Given the description of an element on the screen output the (x, y) to click on. 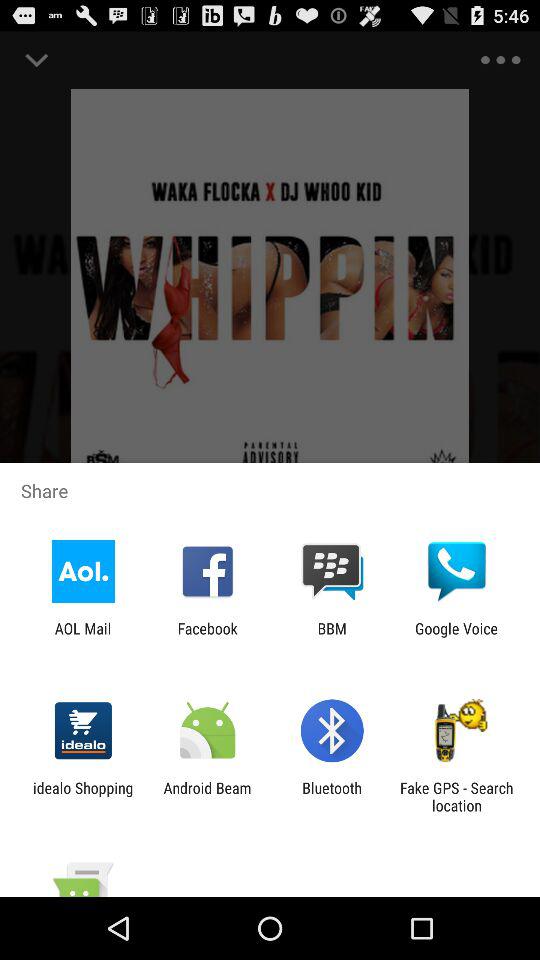
flip to the android beam (207, 796)
